Given the description of an element on the screen output the (x, y) to click on. 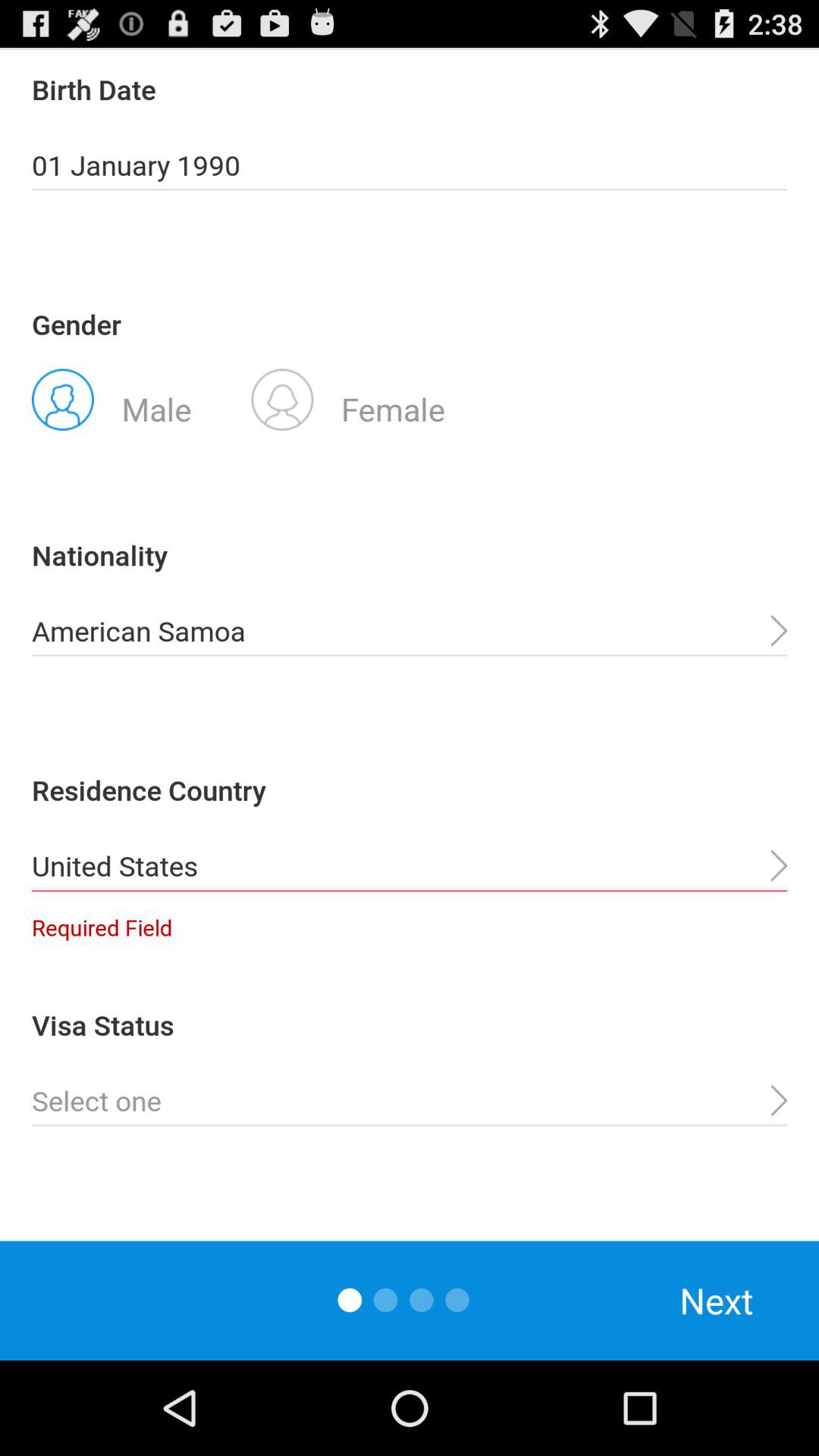
select textbox (409, 1101)
